Given the description of an element on the screen output the (x, y) to click on. 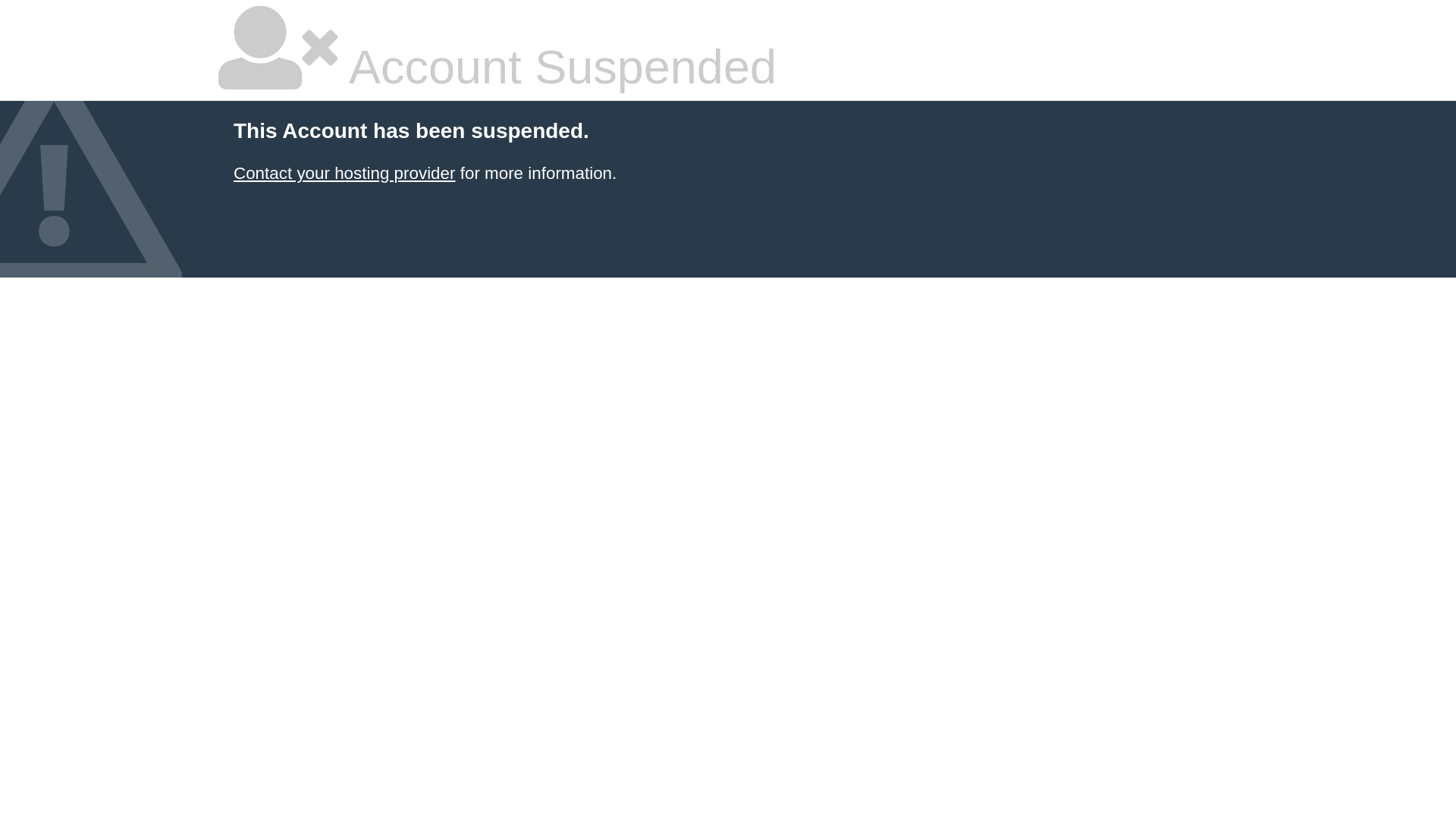
Contact your hosting provider Element type: text (344, 172)
